Given the description of an element on the screen output the (x, y) to click on. 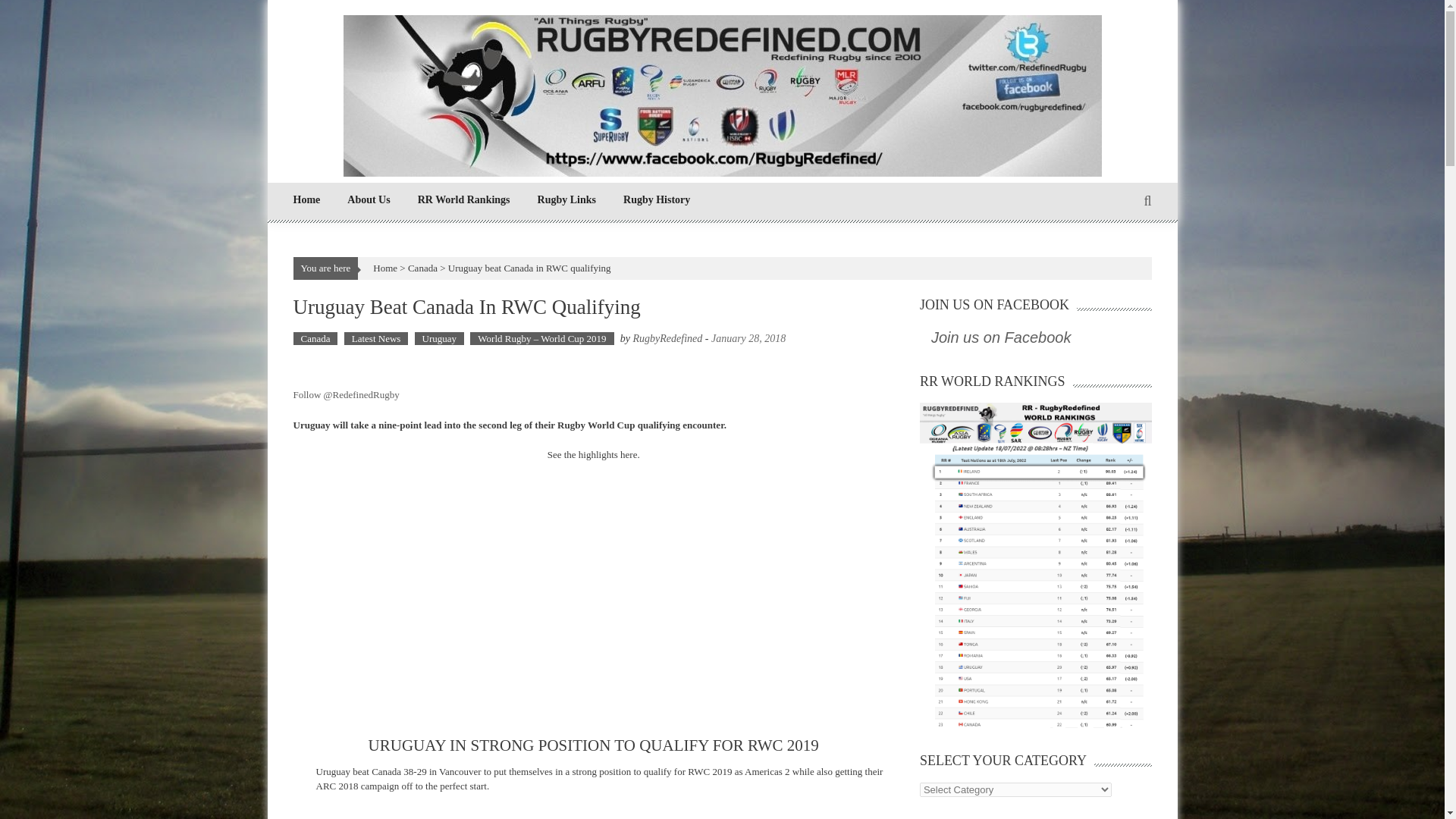
Rugby Links (566, 199)
Latest News (376, 338)
Search (862, 422)
RugbyRedefined (668, 337)
RR World Rankings (464, 199)
Canada (314, 338)
Canada (422, 267)
Uruguay (439, 338)
About Us (368, 199)
Home (306, 199)
Rugby History (656, 199)
